Given the description of an element on the screen output the (x, y) to click on. 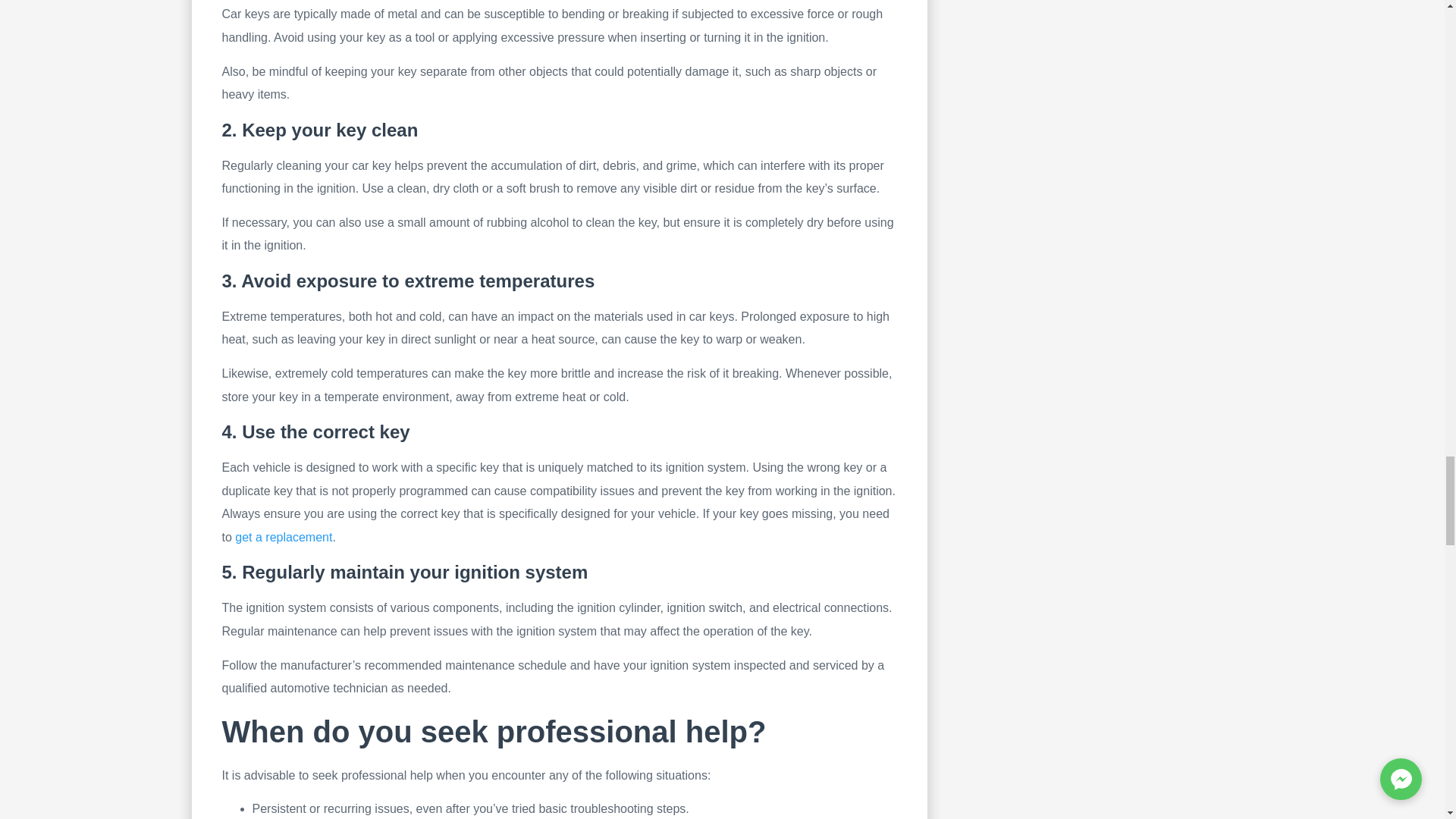
get a replacement (282, 536)
